Given the description of an element on the screen output the (x, y) to click on. 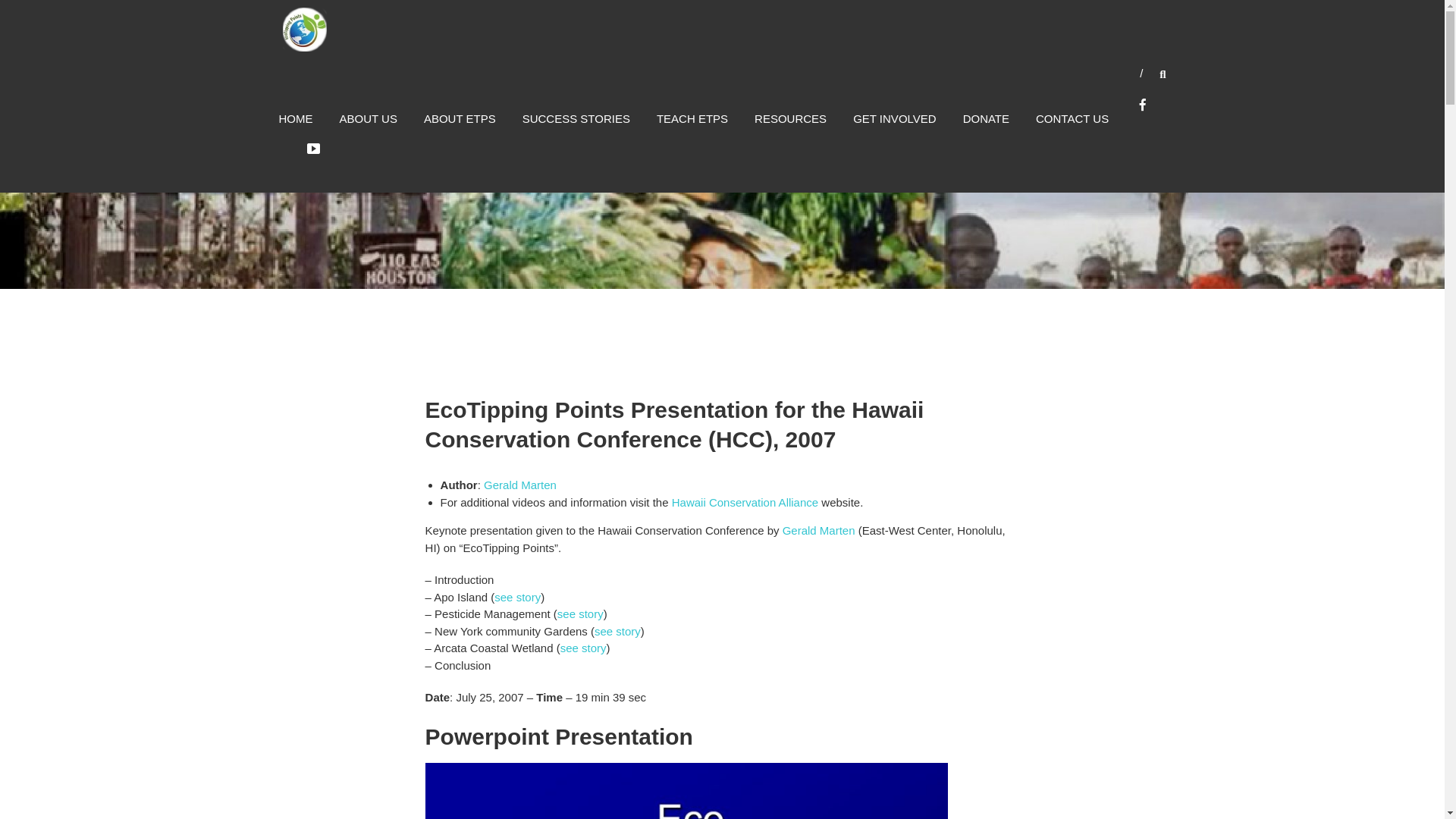
SUCCESS STORIES (576, 118)
CONTACT US (1071, 118)
RESOURCES (790, 118)
ABOUT US (368, 118)
GET INVOLVED (894, 118)
TEACH ETPS (692, 118)
DONATE (985, 118)
ABOUT ETPS (459, 118)
Search (1232, 409)
